Given the description of an element on the screen output the (x, y) to click on. 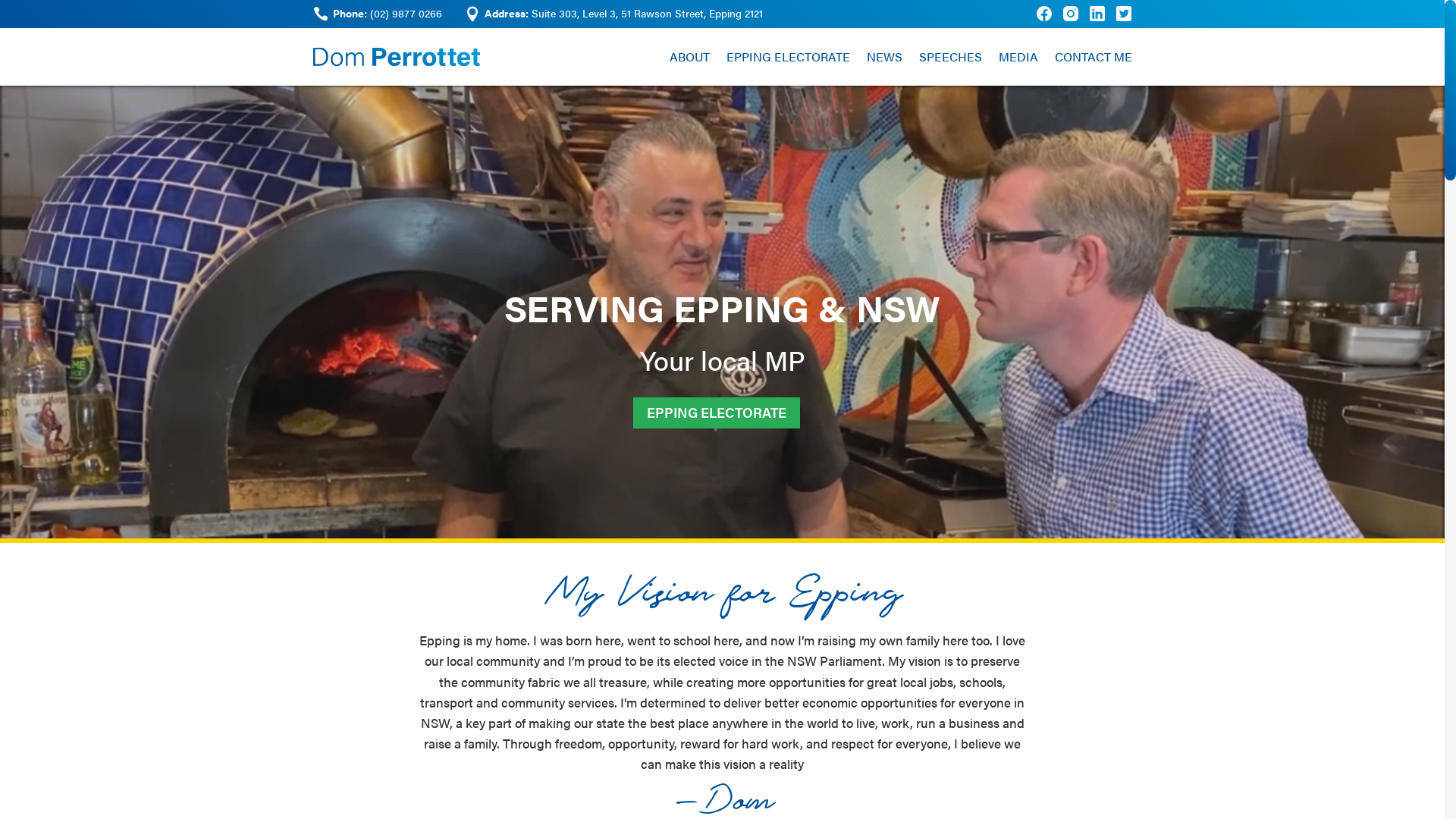
ABOUT Element type: text (688, 56)
MEDIA Element type: text (1017, 56)
CONTACT ME Element type: text (1092, 56)
SPEECHES Element type: text (950, 56)
EPPING ELECTORATE Element type: text (716, 412)
NEWS Element type: text (883, 56)
EPPING ELECTORATE Element type: text (788, 56)
